Given the description of an element on the screen output the (x, y) to click on. 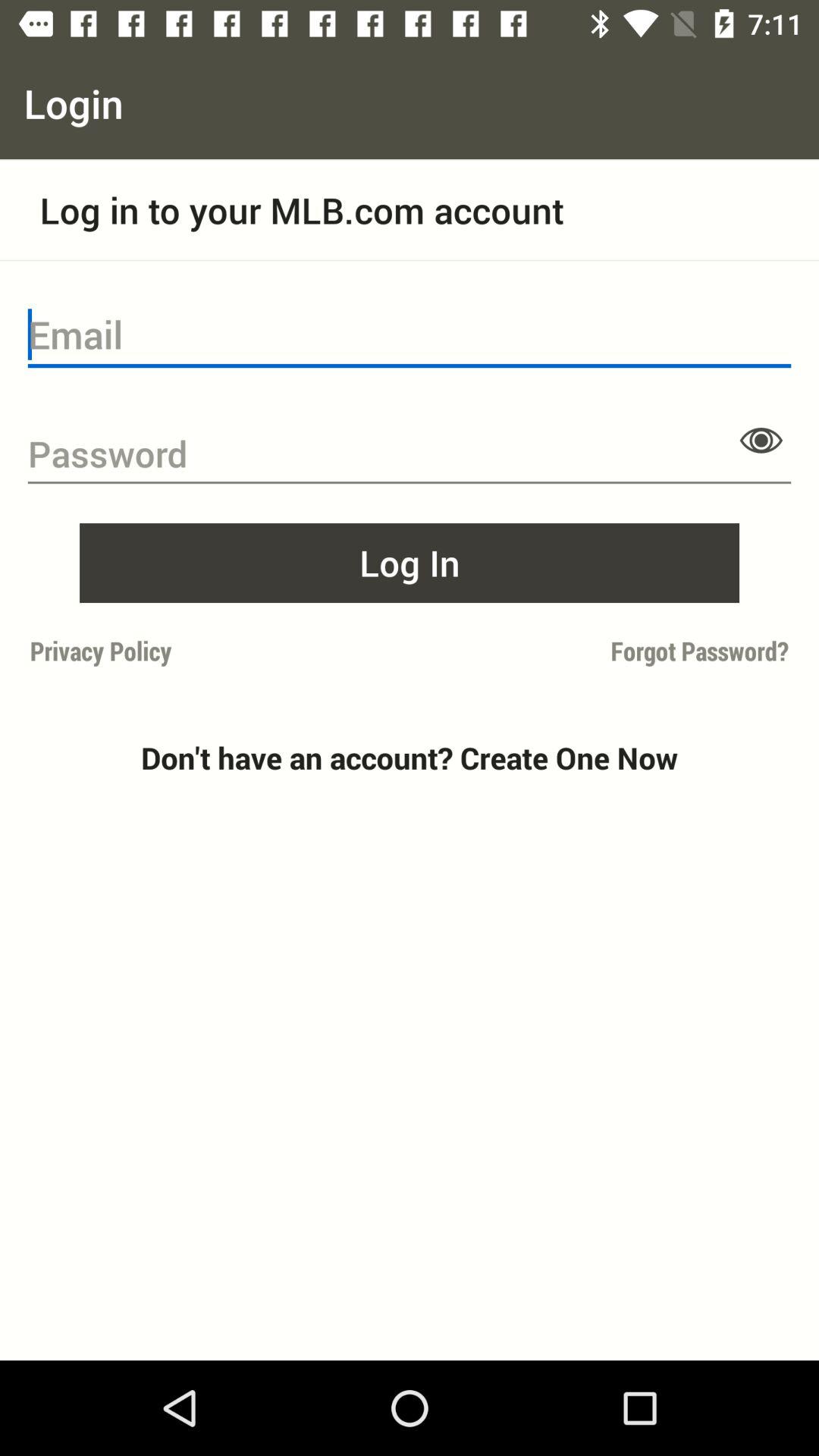
turn off the item below log in icon (214, 650)
